Given the description of an element on the screen output the (x, y) to click on. 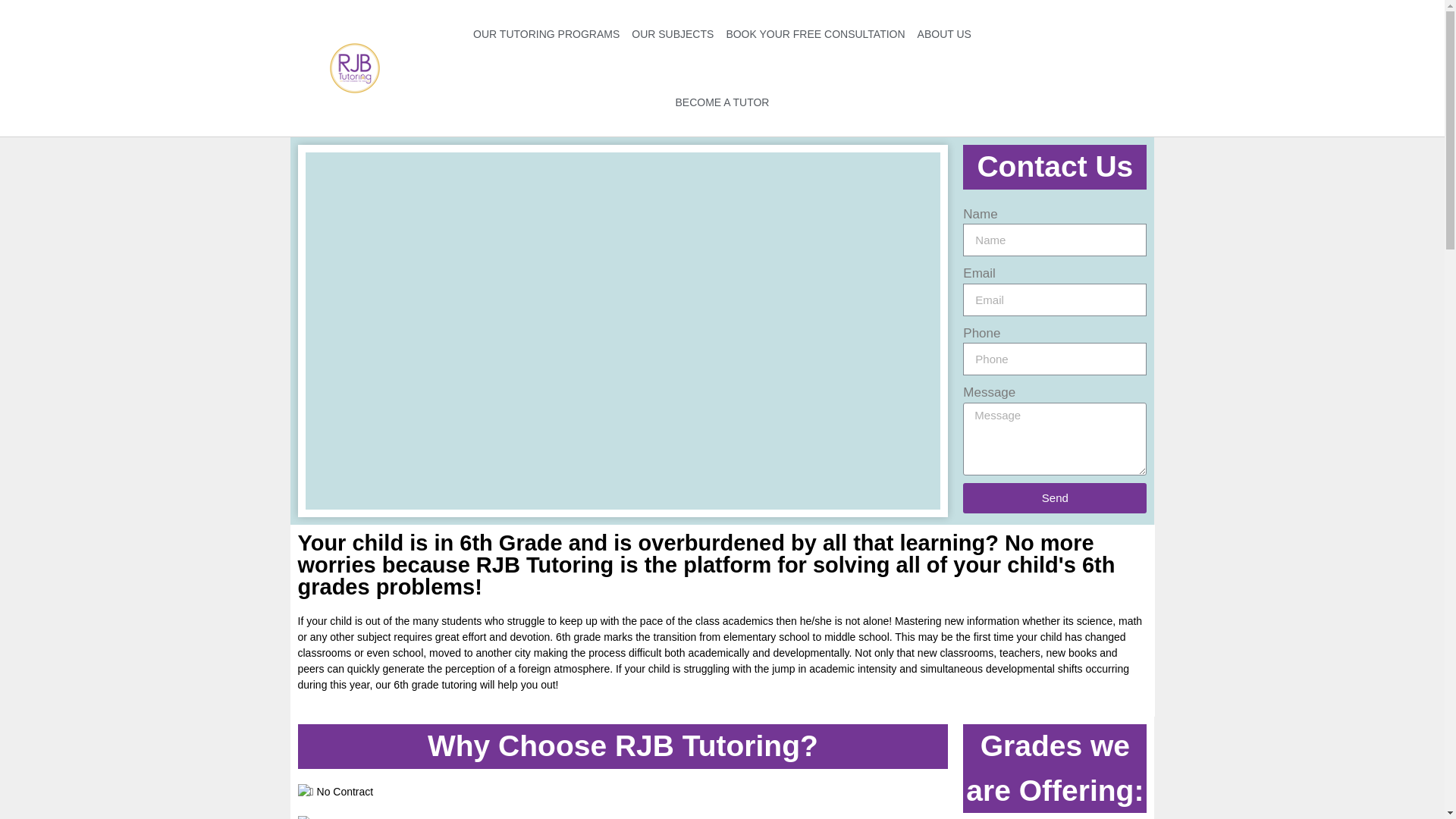
BOOK YOUR FREE CONSULTATION (815, 33)
Send (1054, 497)
OUR SUBJECTS (672, 33)
BECOME A TUTOR (722, 101)
OUR TUTORING PROGRAMS (546, 33)
ABOUT US (943, 33)
